Given the description of an element on the screen output the (x, y) to click on. 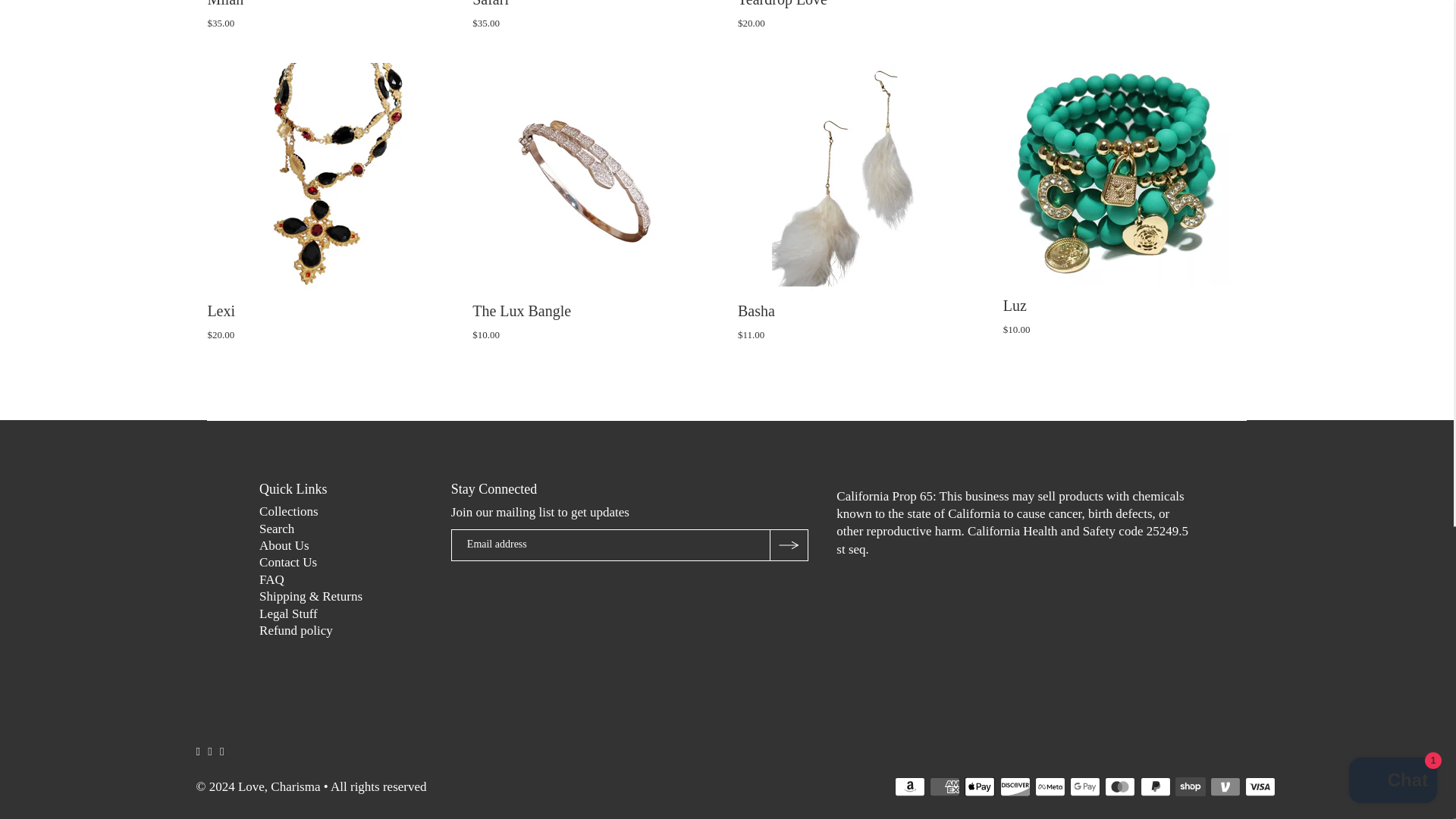
PayPal (1155, 786)
Discover (1015, 786)
Meta Pay (1050, 786)
Visa (1259, 786)
Shop Pay (1189, 786)
Amazon (909, 786)
Apple Pay (978, 786)
Venmo (1224, 786)
American Express (944, 786)
Google Pay (1085, 786)
Mastercard (1120, 786)
